Given the description of an element on the screen output the (x, y) to click on. 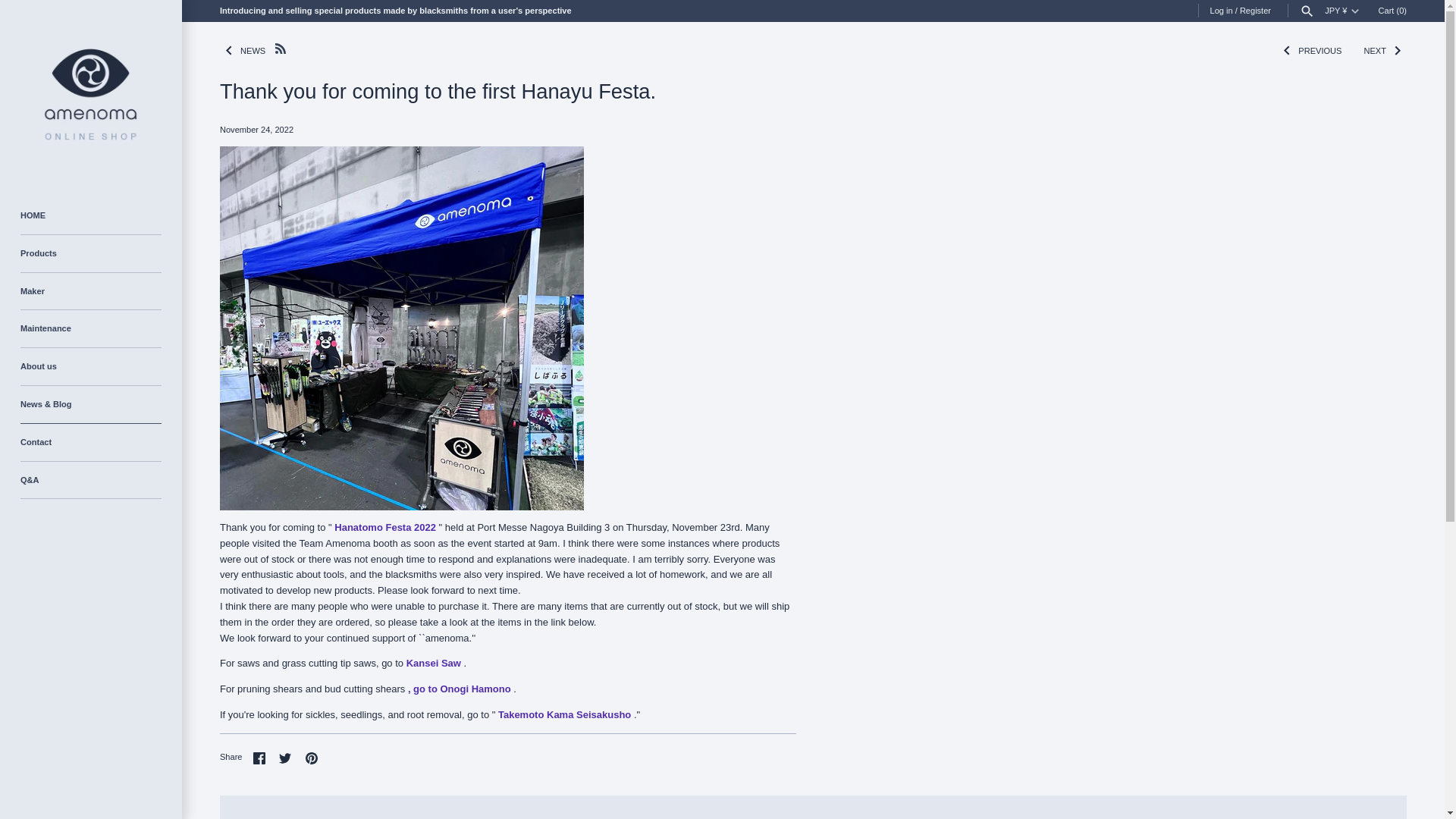
HOME (90, 216)
LEFT (1286, 50)
Takemoto Kama Seisakusho Sickle Soil Stick Universal Sickle (563, 714)
Kansai saw saw mowing tip saw ez shovel (433, 663)
Pinterest (311, 758)
LEFT (228, 50)
Maker (90, 291)
Products (90, 253)
Flower Friends Festa 2022 Carmen Event (384, 527)
Register (1255, 10)
